Given the description of an element on the screen output the (x, y) to click on. 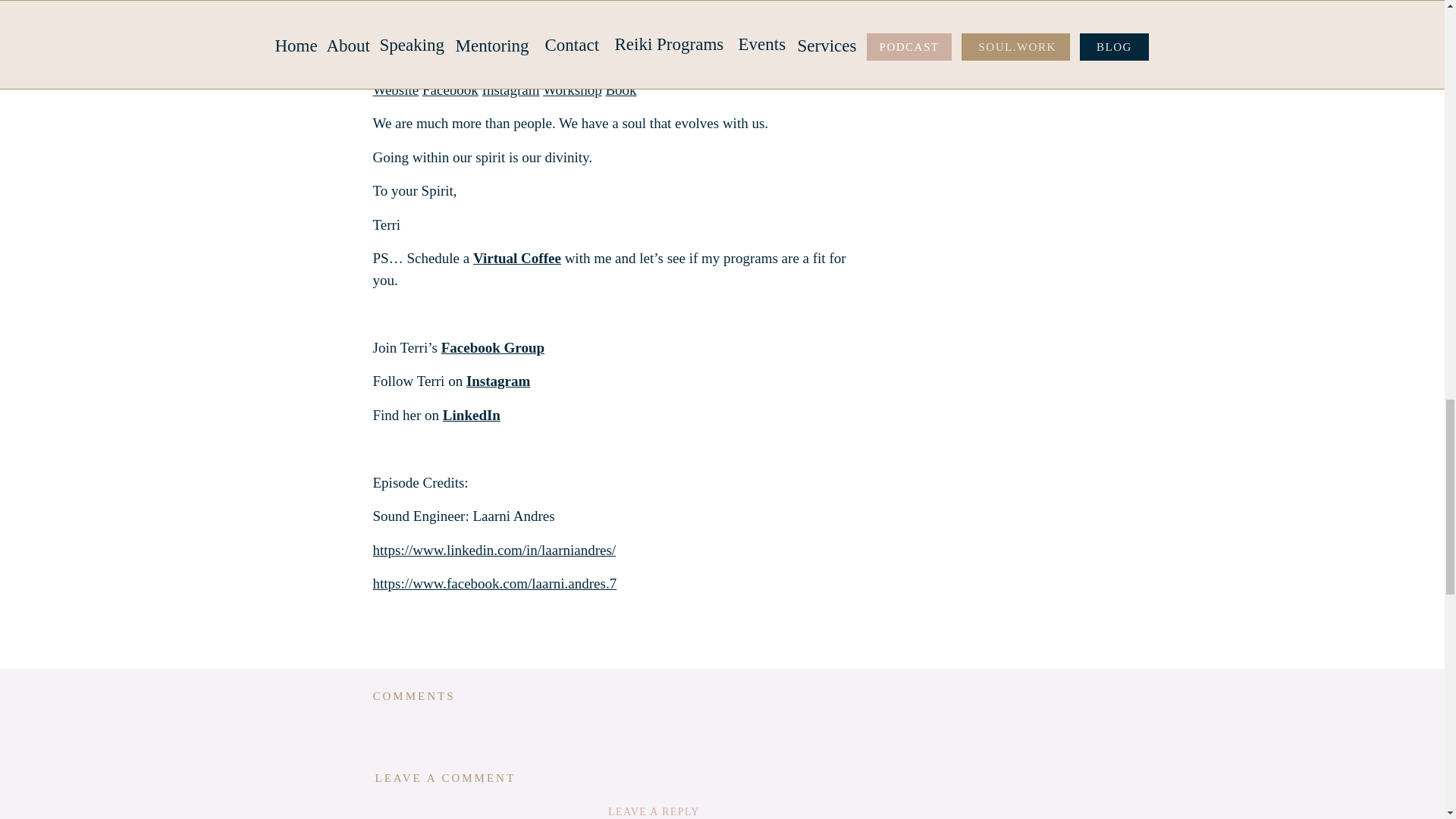
Instagram (497, 381)
Instagram (510, 89)
Workshop (572, 89)
Website (395, 89)
Virtual Coffee (516, 258)
Book (620, 89)
LinkedIn (471, 415)
Facebook Group (492, 347)
Facebook (450, 89)
